Given the description of an element on the screen output the (x, y) to click on. 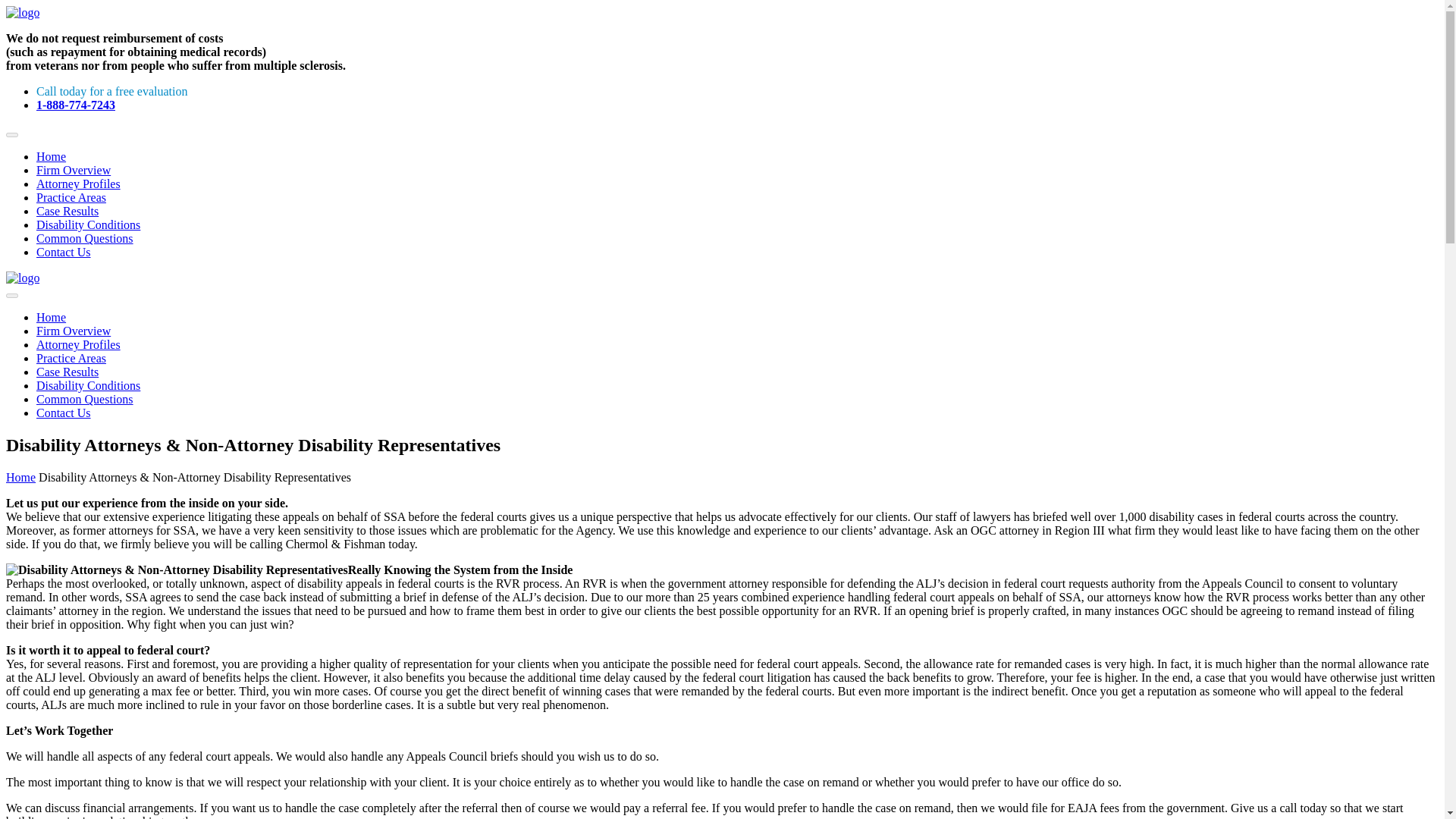
logo (22, 278)
Disability Conditions (87, 385)
Contact Us (63, 412)
1-888-774-7243 (75, 104)
Common Questions (84, 237)
logo (22, 12)
Home (19, 477)
Home (50, 155)
Disability Conditions (87, 224)
Case Results (67, 371)
Practice Areas (71, 196)
Attorney Profiles (78, 344)
Common Questions (84, 399)
Home (50, 317)
Contact Us (63, 251)
